Given the description of an element on the screen output the (x, y) to click on. 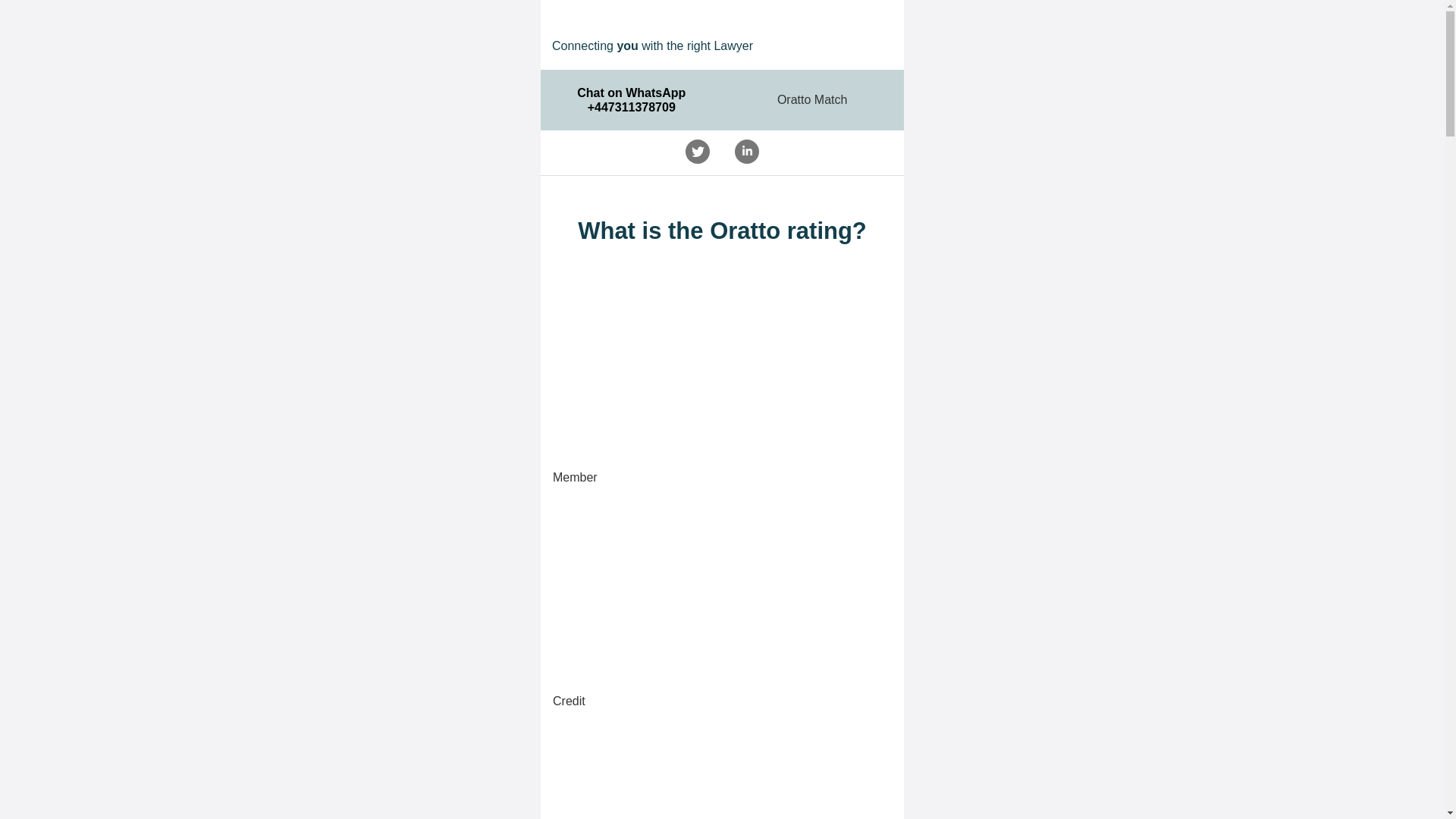
Tweet (697, 151)
LinkedIn (746, 151)
Connecting you with the right Lawyer (725, 25)
